Given the description of an element on the screen output the (x, y) to click on. 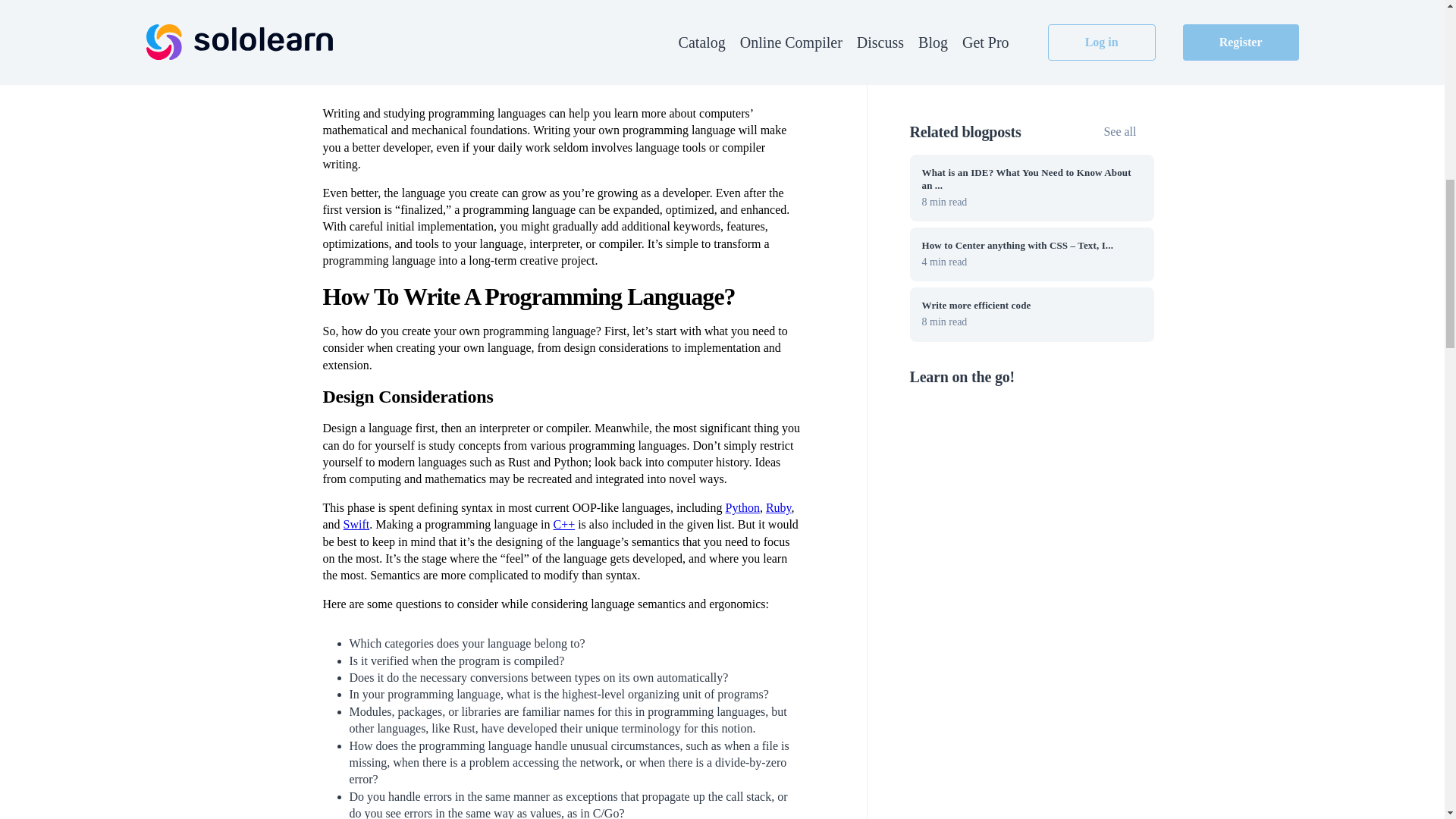
Swift (356, 523)
Python (742, 507)
Ruby (778, 507)
